Given the description of an element on the screen output the (x, y) to click on. 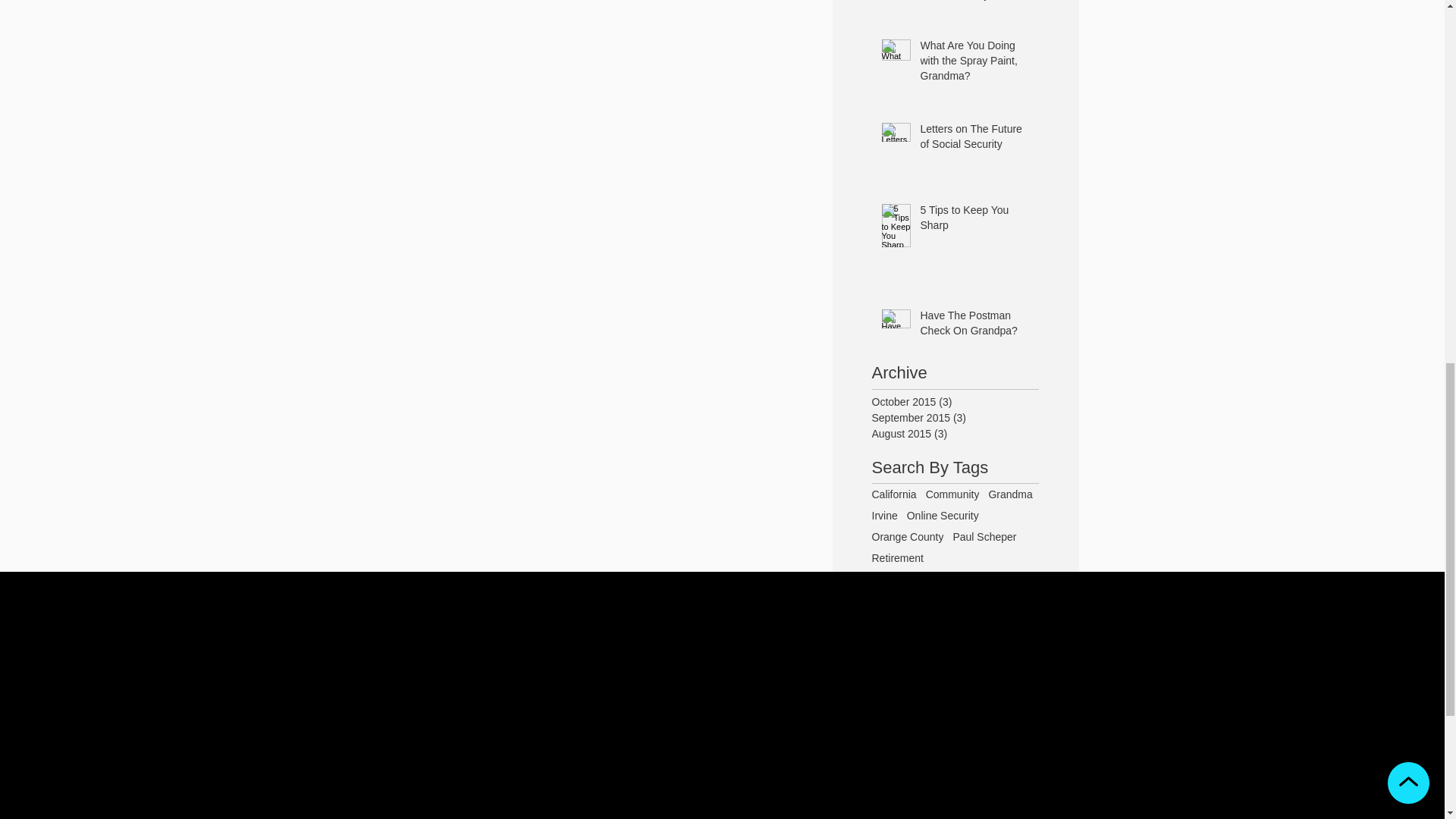
Community (952, 494)
Letters on The Future of Social Security (974, 140)
Paul Scheper (984, 536)
Online Security (942, 515)
AMAC: Another Conservative Group for The Elderly (974, 4)
Retirement (897, 558)
5 Tips to Keep You Sharp (974, 221)
What Are You Doing with the Spray Paint, Grandma? (974, 63)
Grandma (1010, 494)
Have The Postman Check On Grandpa? (974, 325)
